Given the description of an element on the screen output the (x, y) to click on. 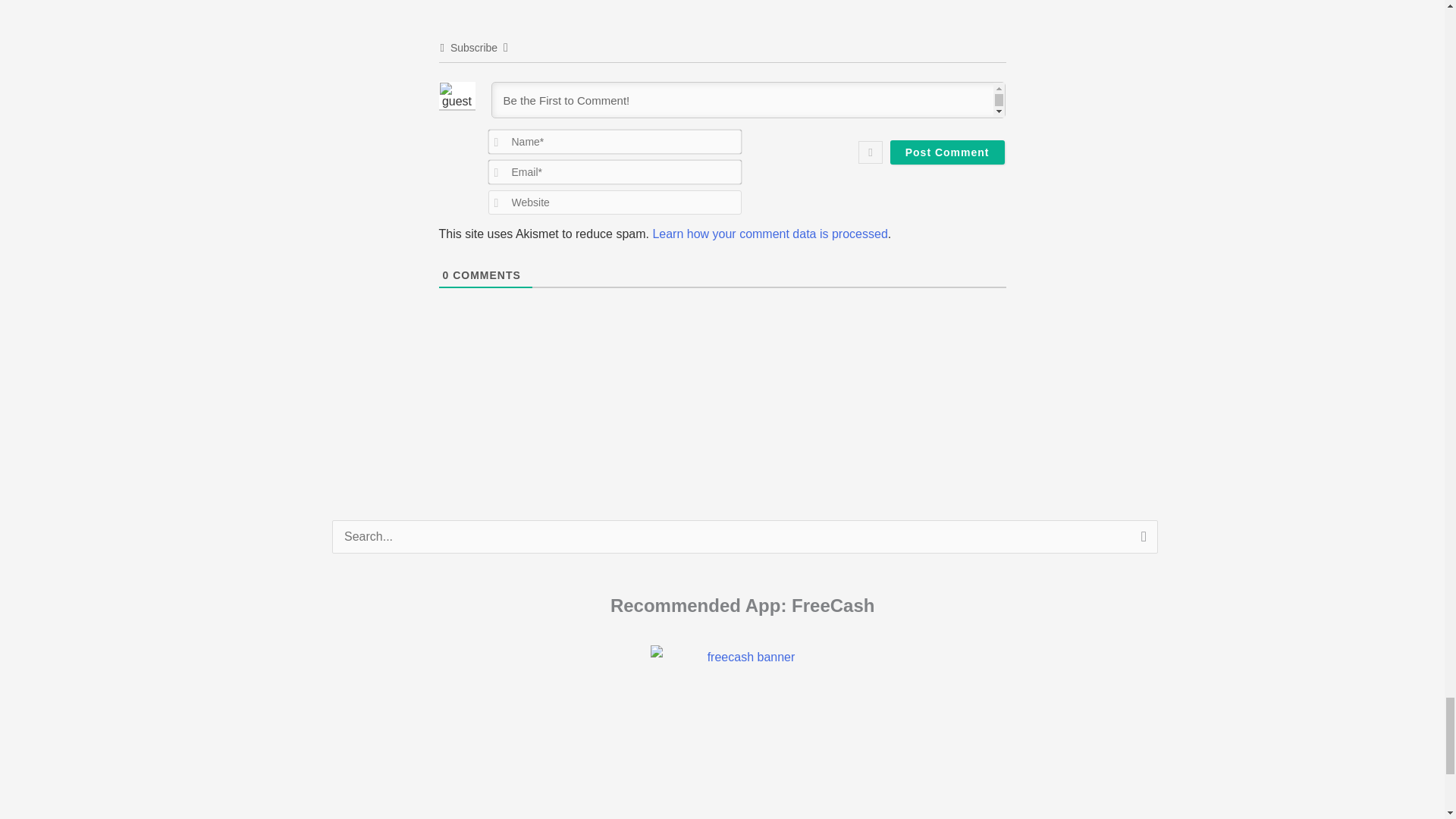
Post Comment (946, 152)
Learn how your comment data is processed (769, 233)
Post Comment (946, 152)
